Given the description of an element on the screen output the (x, y) to click on. 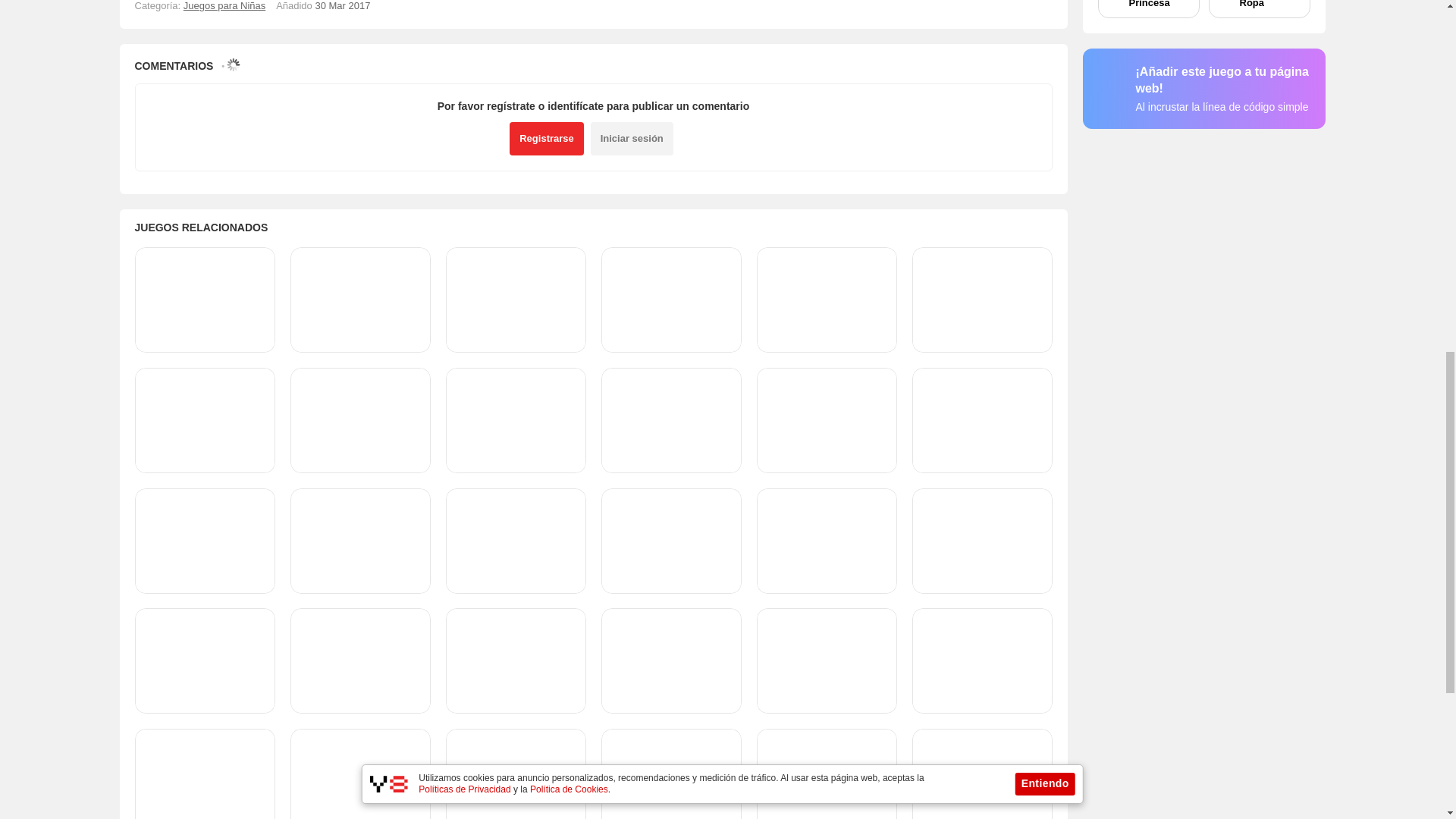
Princesa (1148, 9)
Ropa (1259, 9)
Girls (223, 5)
